Given the description of an element on the screen output the (x, y) to click on. 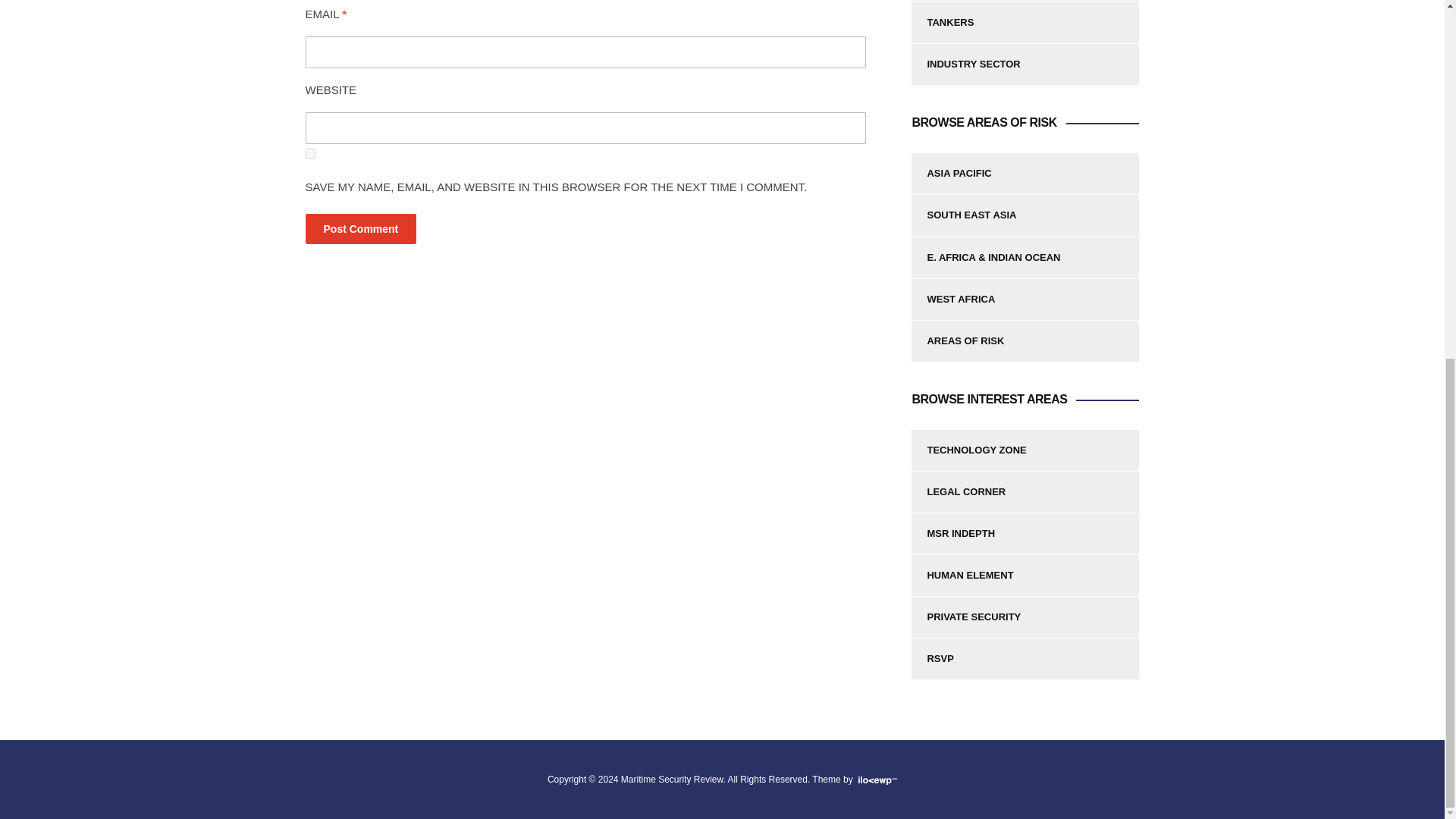
Post Comment (360, 228)
Free WordPress Themes (876, 778)
TANKERS (1024, 23)
Post Comment (360, 228)
INDUSTRY SECTOR (1024, 64)
yes (309, 153)
SOUTH EAST ASIA (1024, 215)
ASIA PACIFIC (1024, 173)
